Given the description of an element on the screen output the (x, y) to click on. 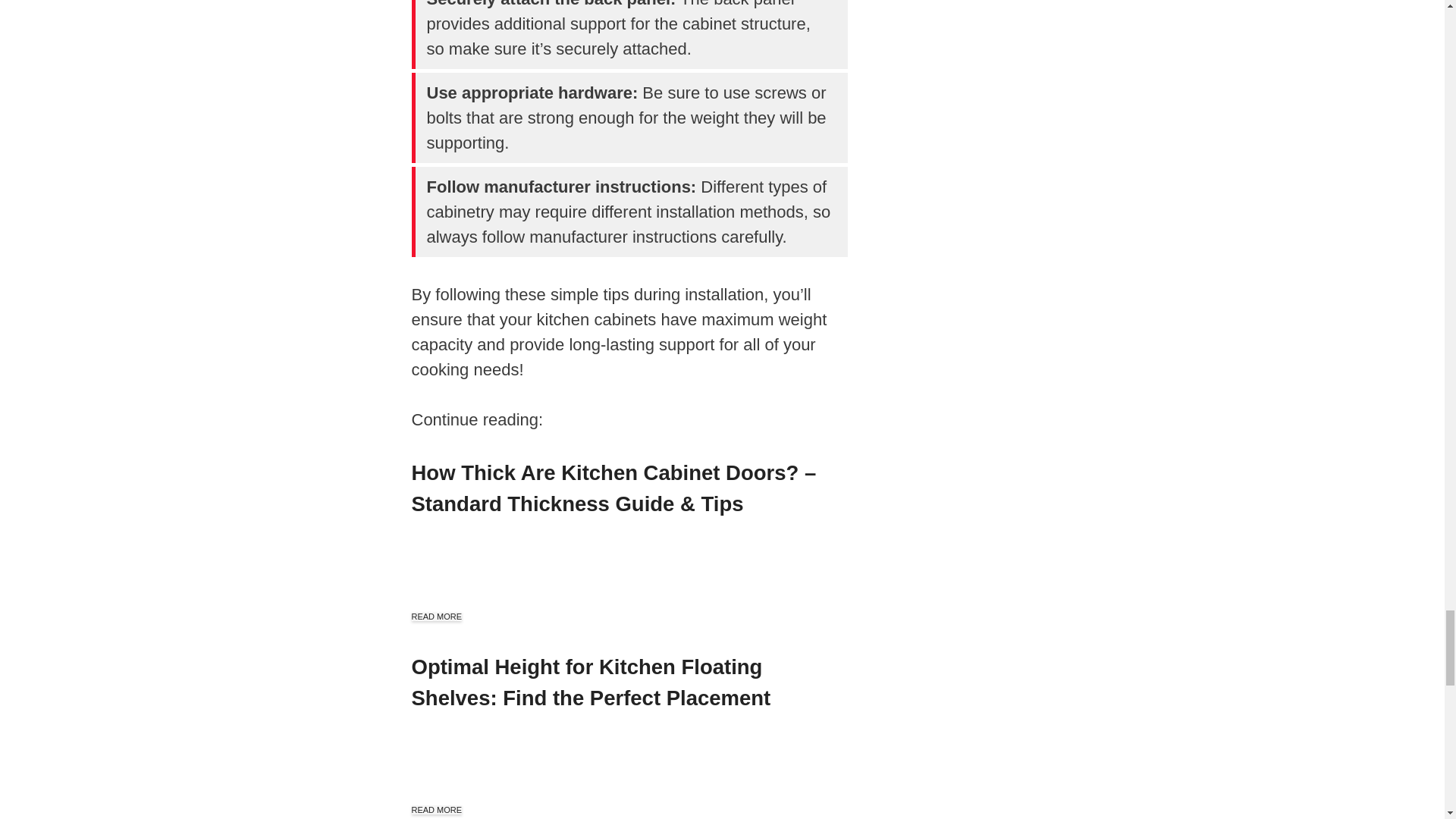
READ MORE (435, 809)
READ MORE (435, 615)
